Given the description of an element on the screen output the (x, y) to click on. 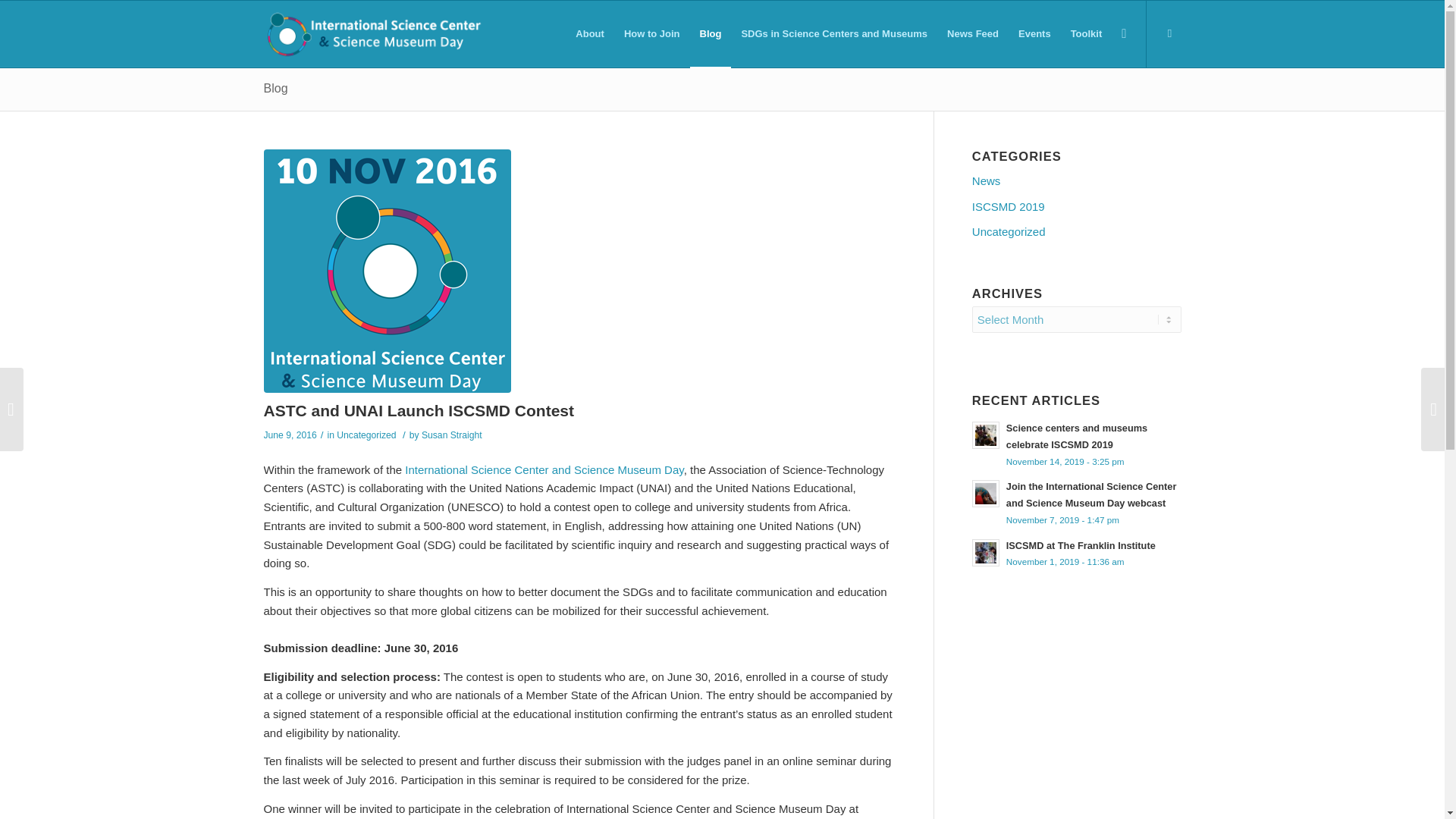
SDGs in Science Centers and Museums (833, 33)
Permanent Link: Blog (275, 88)
ISCSMD 2019 (1076, 207)
International Science Center and Science Museum Day (543, 469)
How to Join (652, 33)
News Feed (973, 33)
Posts by Susan Straight (451, 434)
Uncategorized (1076, 232)
Permanent Link: ASTC and UNAI Launch ISCSMD Contest (419, 410)
Susan Straight (451, 434)
Uncategorized (366, 434)
News (1076, 181)
